Given the description of an element on the screen output the (x, y) to click on. 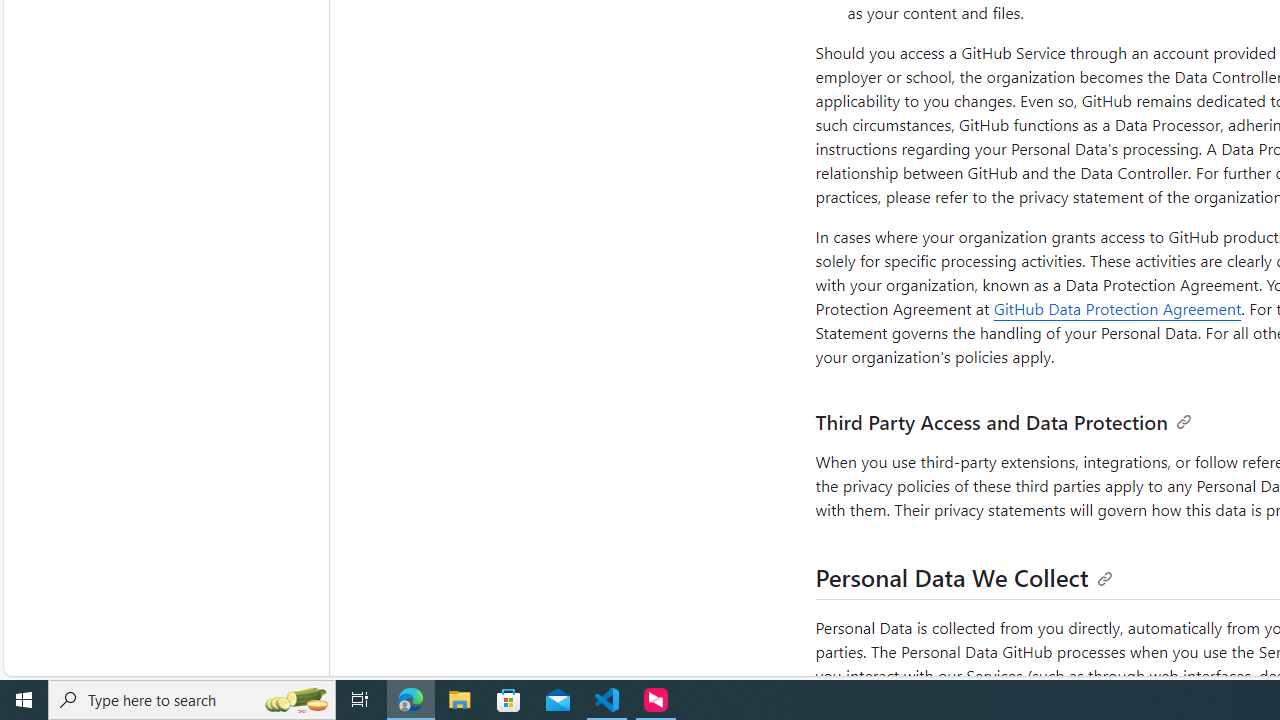
Third Party Access and Data Protection (1003, 422)
Personal Data We Collect (964, 577)
GitHub Data Protection Agreement (1117, 308)
